Given the description of an element on the screen output the (x, y) to click on. 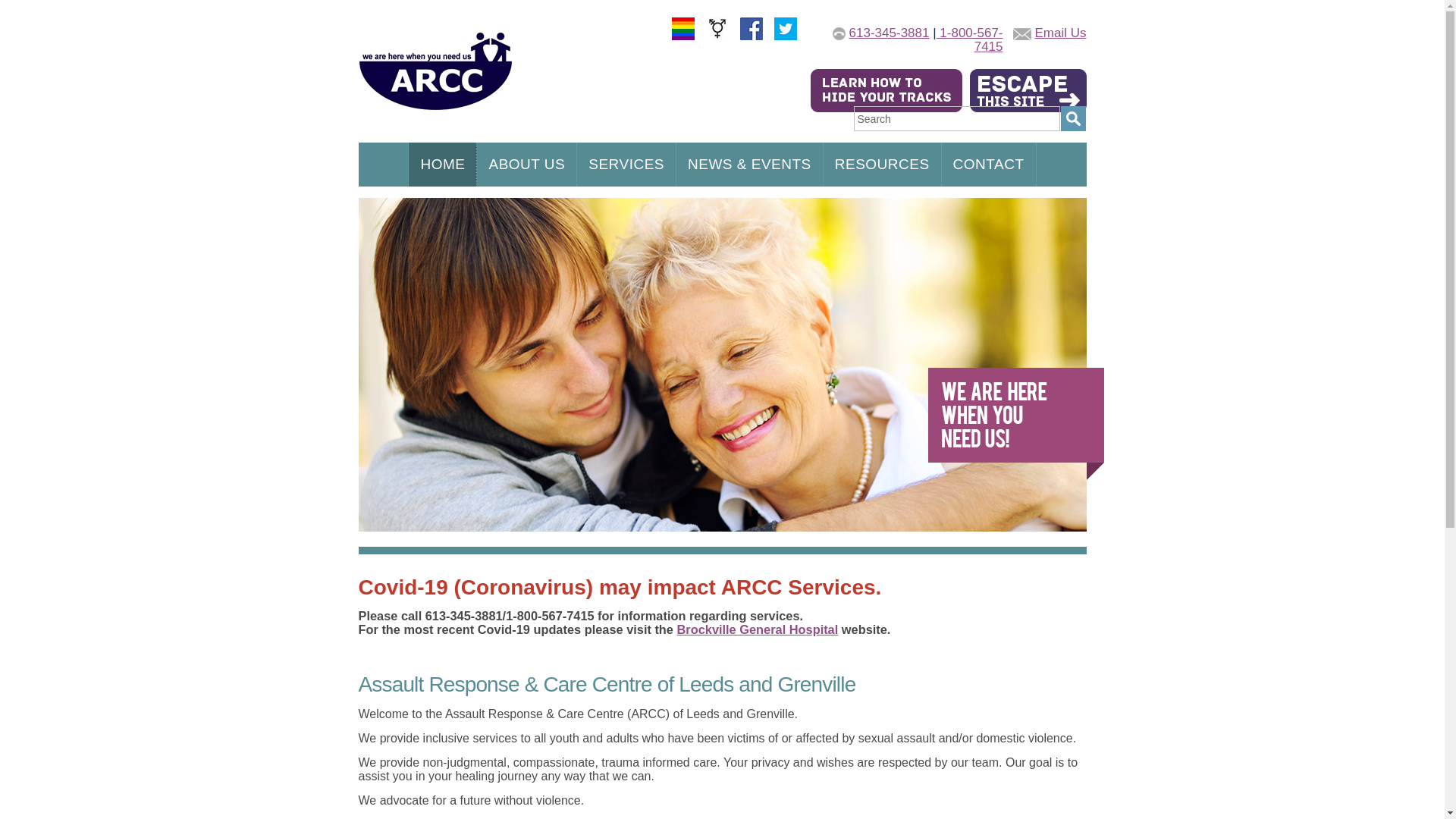
ABOUT US Element type: text (526, 165)
RESOURCES Element type: text (882, 165)
613-345-3881 Element type: text (889, 32)
SERVICES Element type: text (626, 165)
NEWS & EVENTS Element type: text (749, 165)
search Element type: text (1072, 118)
Brockville General Hospital Element type: text (757, 628)
1-800-567-7415 Element type: text (969, 39)
Search Element type: text (956, 118)
CONTACT Element type: text (988, 165)
HOME Element type: text (442, 165)
Email Us Element type: text (1059, 32)
